Given the description of an element on the screen output the (x, y) to click on. 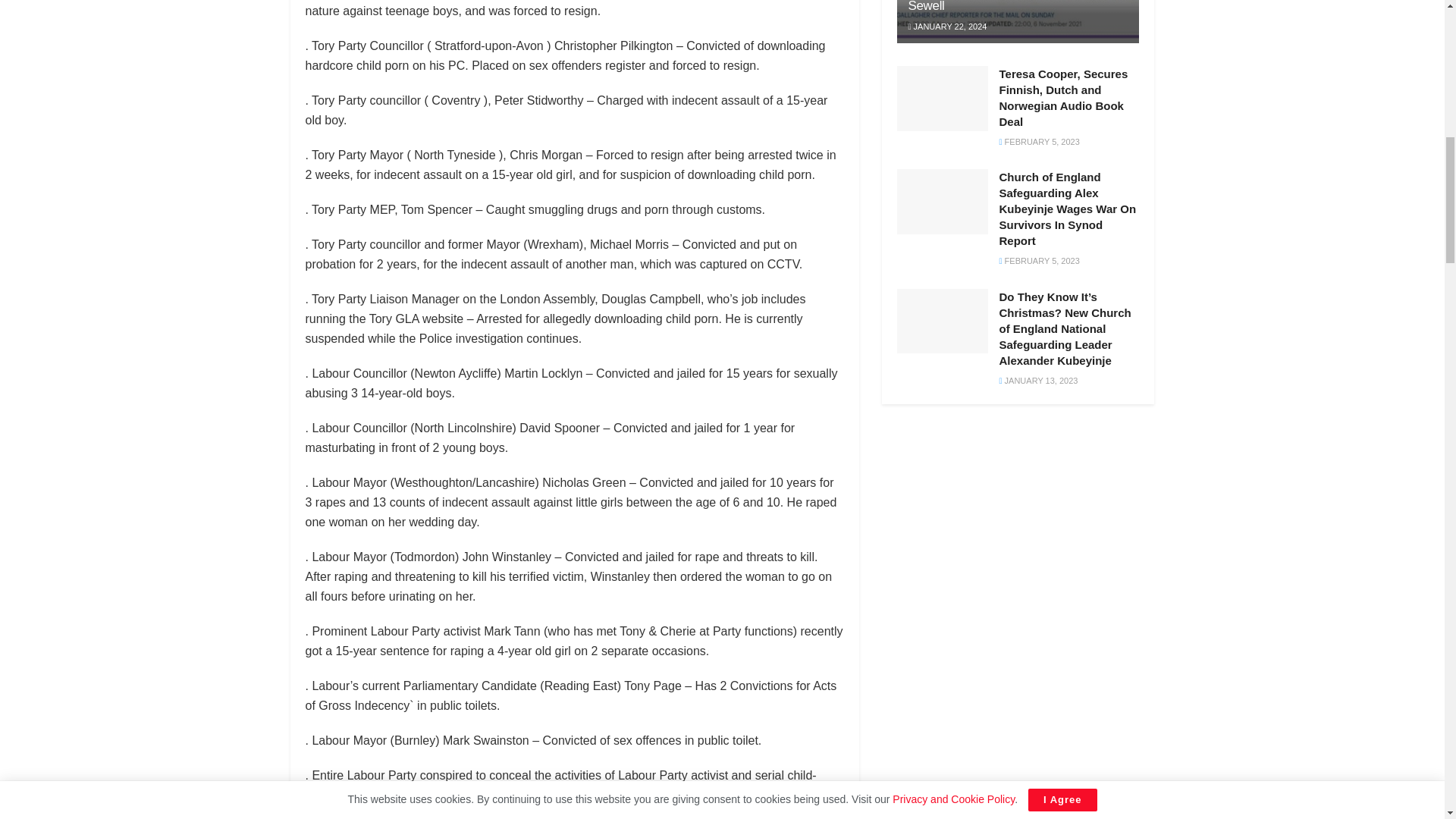
Church of england - No 2 Abuse (1017, 21)
